Given the description of an element on the screen output the (x, y) to click on. 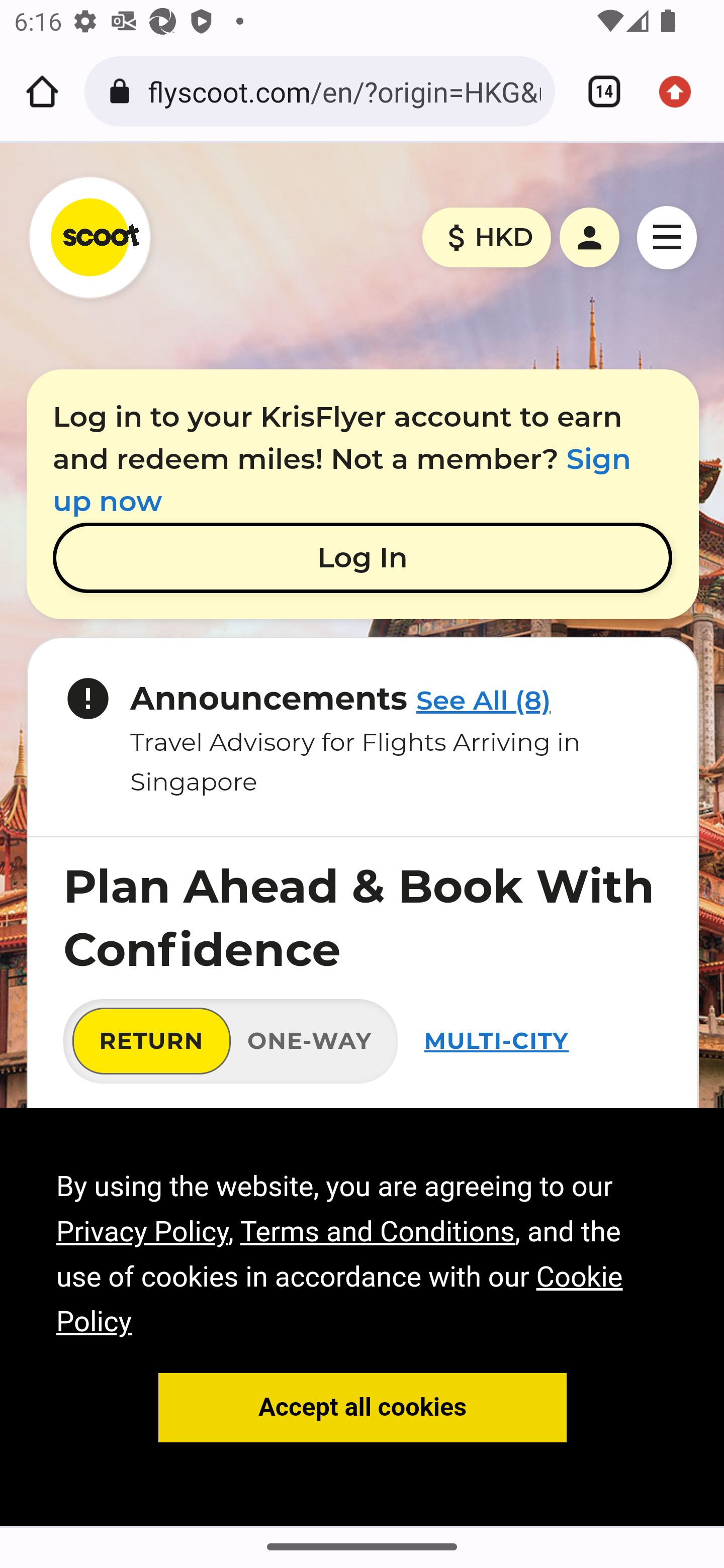
Home (42, 91)
Connection is secure (122, 91)
Switch or close tabs (597, 91)
Update available. More options (681, 91)
Scoot (90, 238)
Toggle Menu (667, 237)
attach_moneyHKD (486, 237)
person (590, 237)
Sign up now (341, 479)
Log In (363, 557)
See All (8) (483, 700)
ONE-WAY (309, 1041)
MULTI-CITY (496, 1040)
Privacy Policy (142, 1230)
Terms and Conditions (377, 1230)
Cookie Policy (340, 1299)
Accept all cookies (362, 1408)
